Given the description of an element on the screen output the (x, y) to click on. 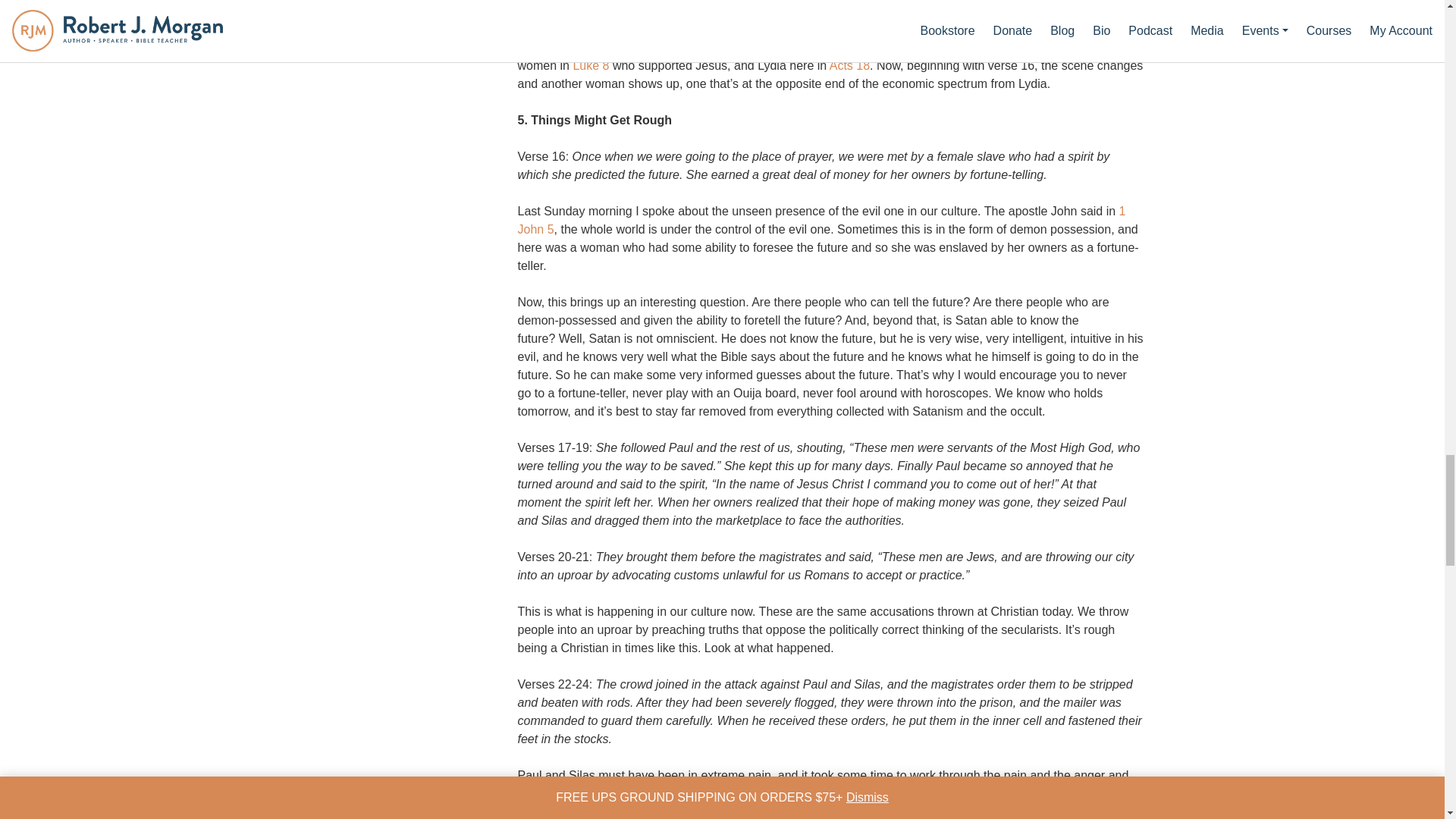
Proverbs 31 (1077, 47)
1 John 5 (820, 219)
Acts 18 (849, 65)
Luke 8 (590, 65)
